Given the description of an element on the screen output the (x, y) to click on. 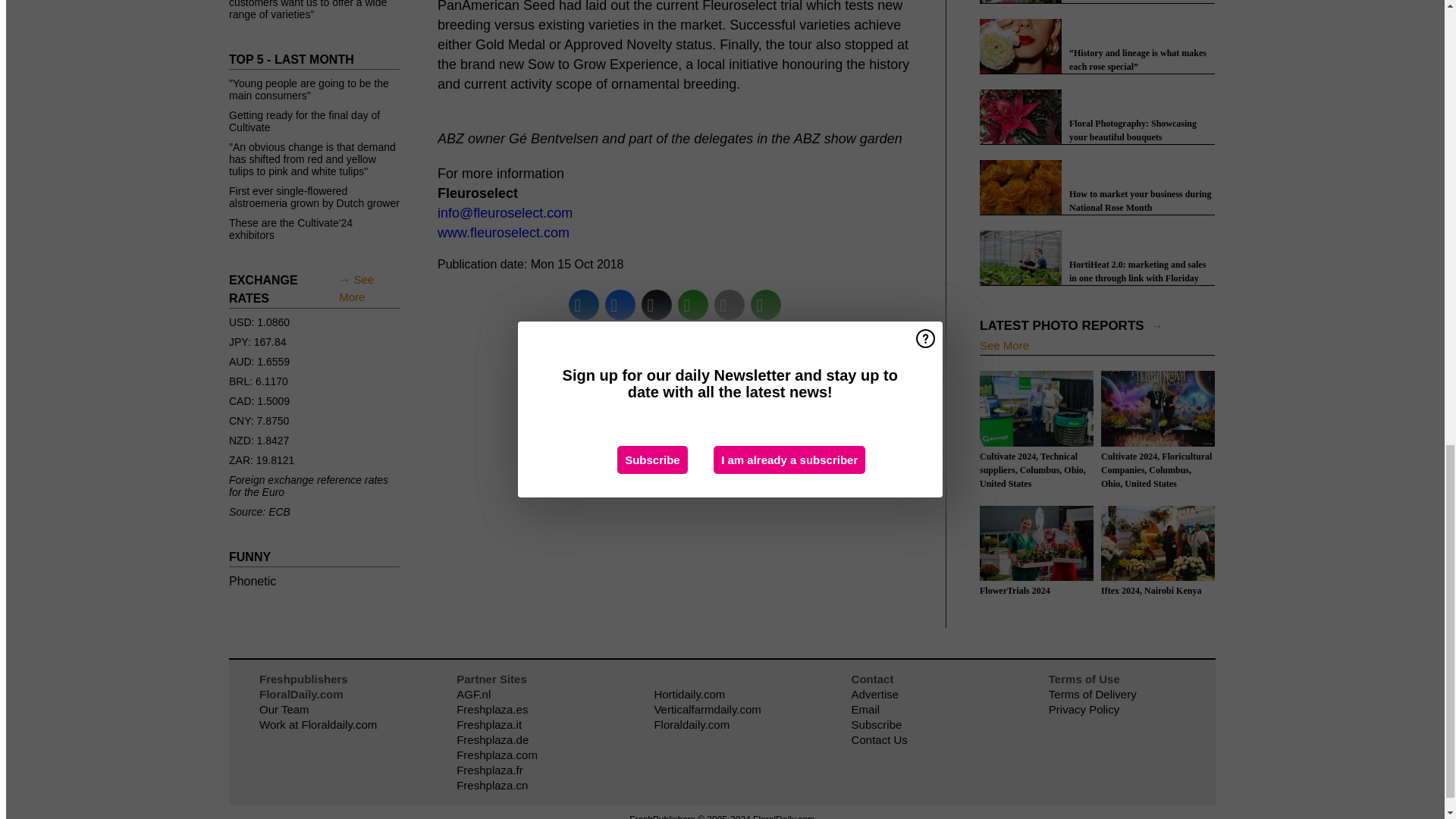
LinkedIn (584, 304)
More Options (766, 304)
WhatsApp (693, 304)
Facebook (620, 304)
Email This (729, 304)
